Given the description of an element on the screen output the (x, y) to click on. 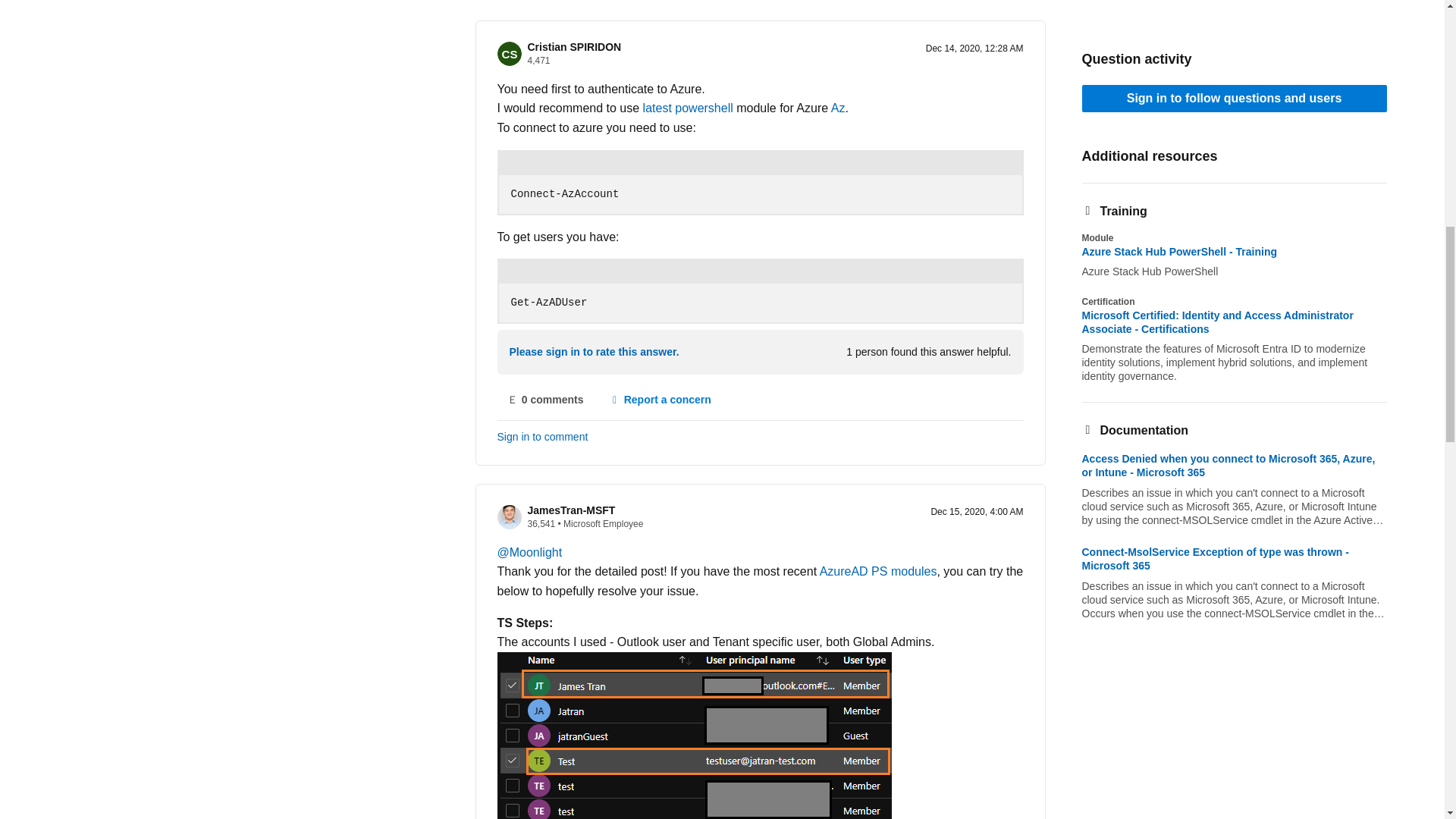
Report a concern (659, 400)
No comments (545, 400)
Reputation points (538, 60)
Reputation points (541, 523)
